Given the description of an element on the screen output the (x, y) to click on. 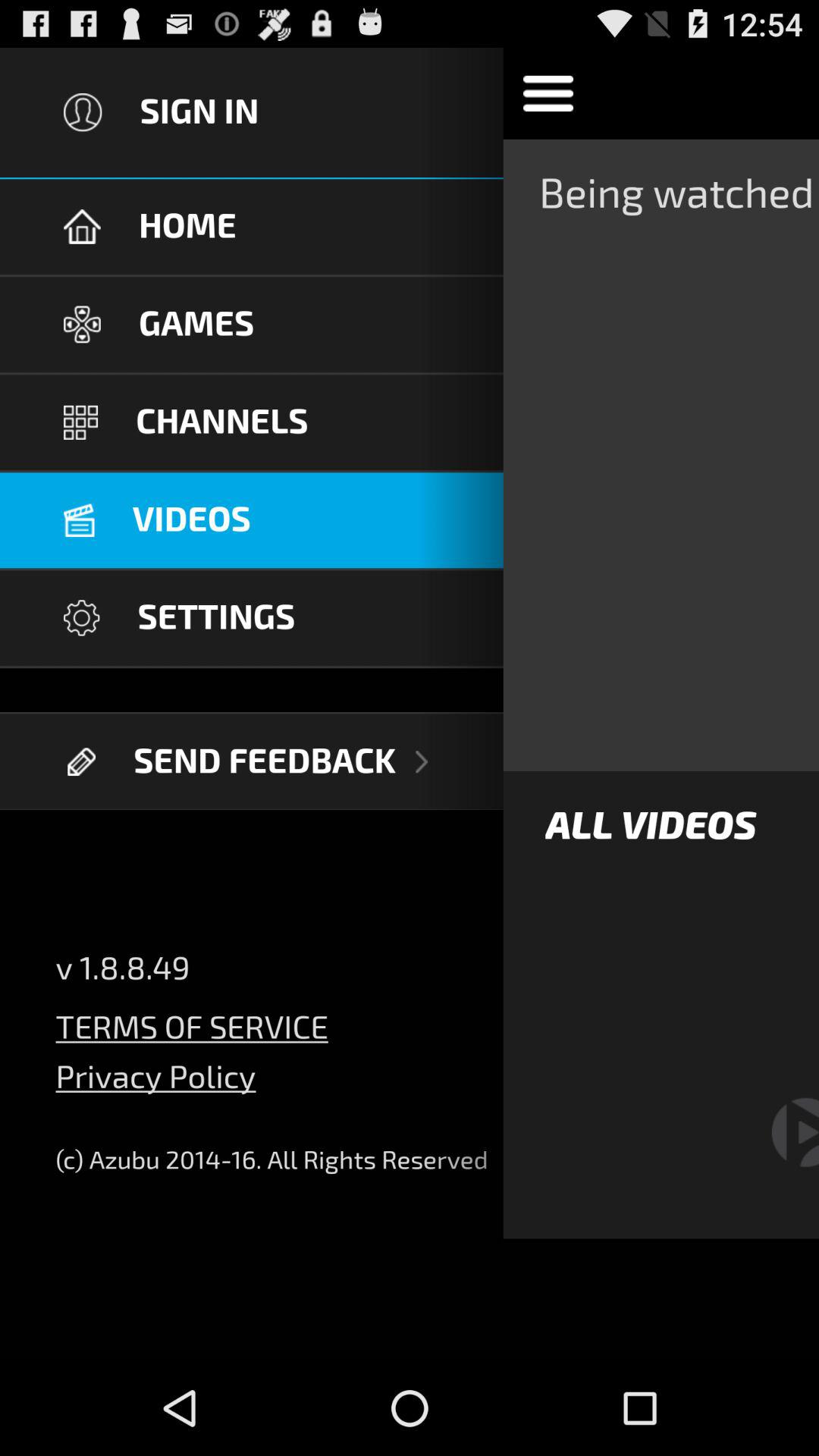
launch icon below terms of service item (155, 1087)
